Given the description of an element on the screen output the (x, y) to click on. 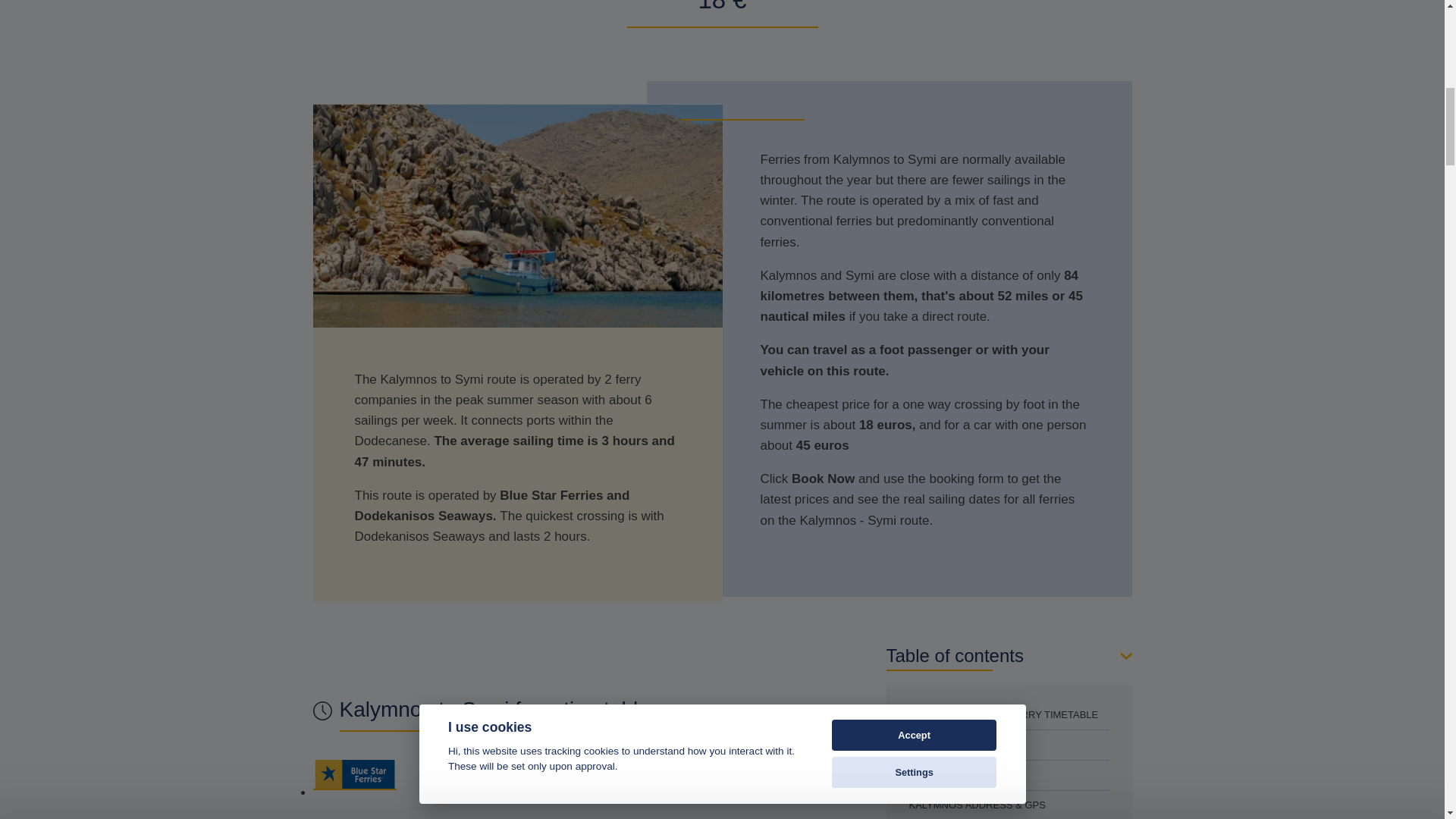
WHY VISIT KALYMNOS? (1008, 744)
KALYMNOS TO SYMI FERRY TIMETABLE (1008, 714)
WHY VISIT SYMI? (1008, 774)
Table of contents (1008, 656)
